Given the description of an element on the screen output the (x, y) to click on. 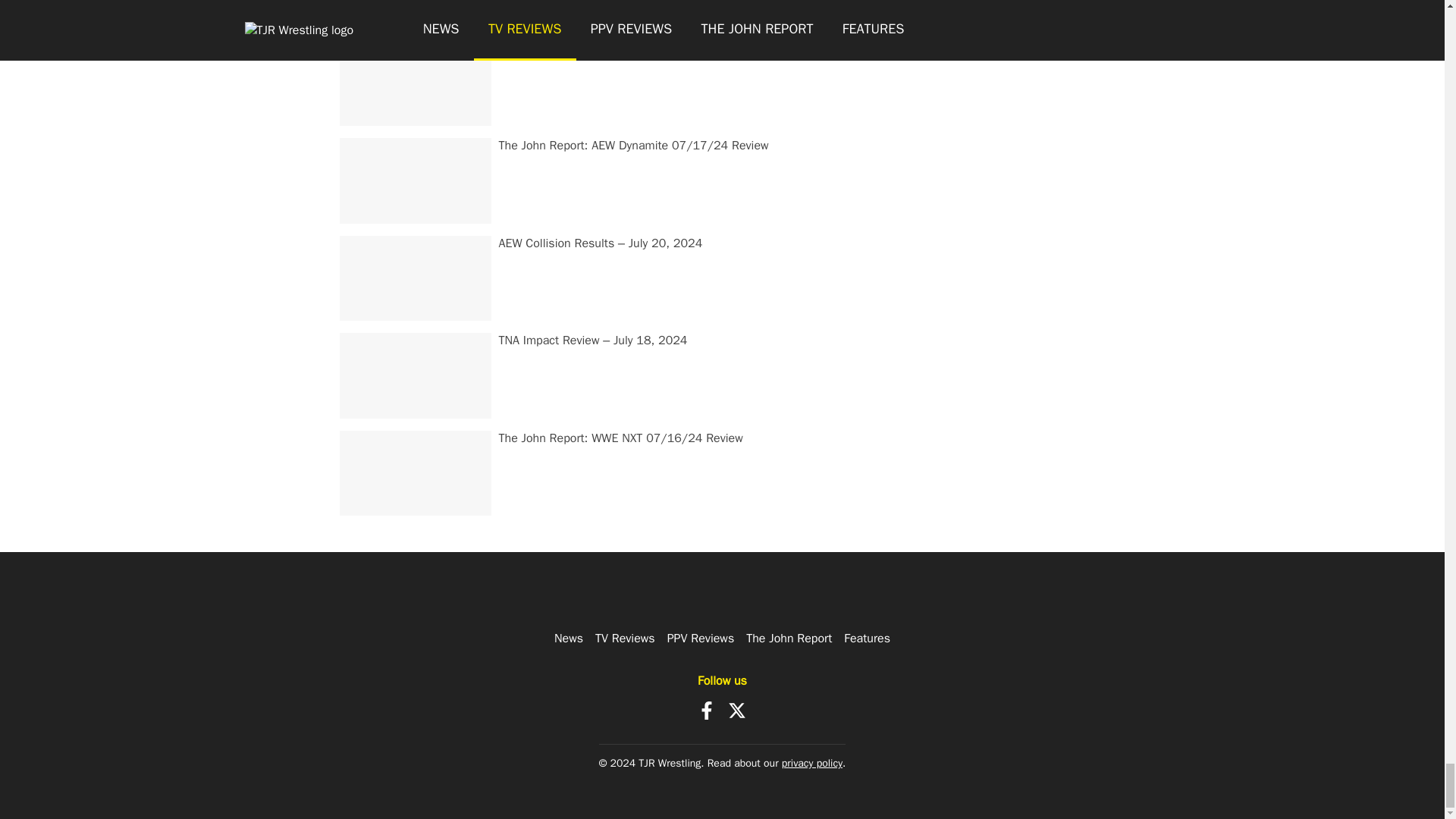
X (736, 710)
Facebook (706, 710)
